Given the description of an element on the screen output the (x, y) to click on. 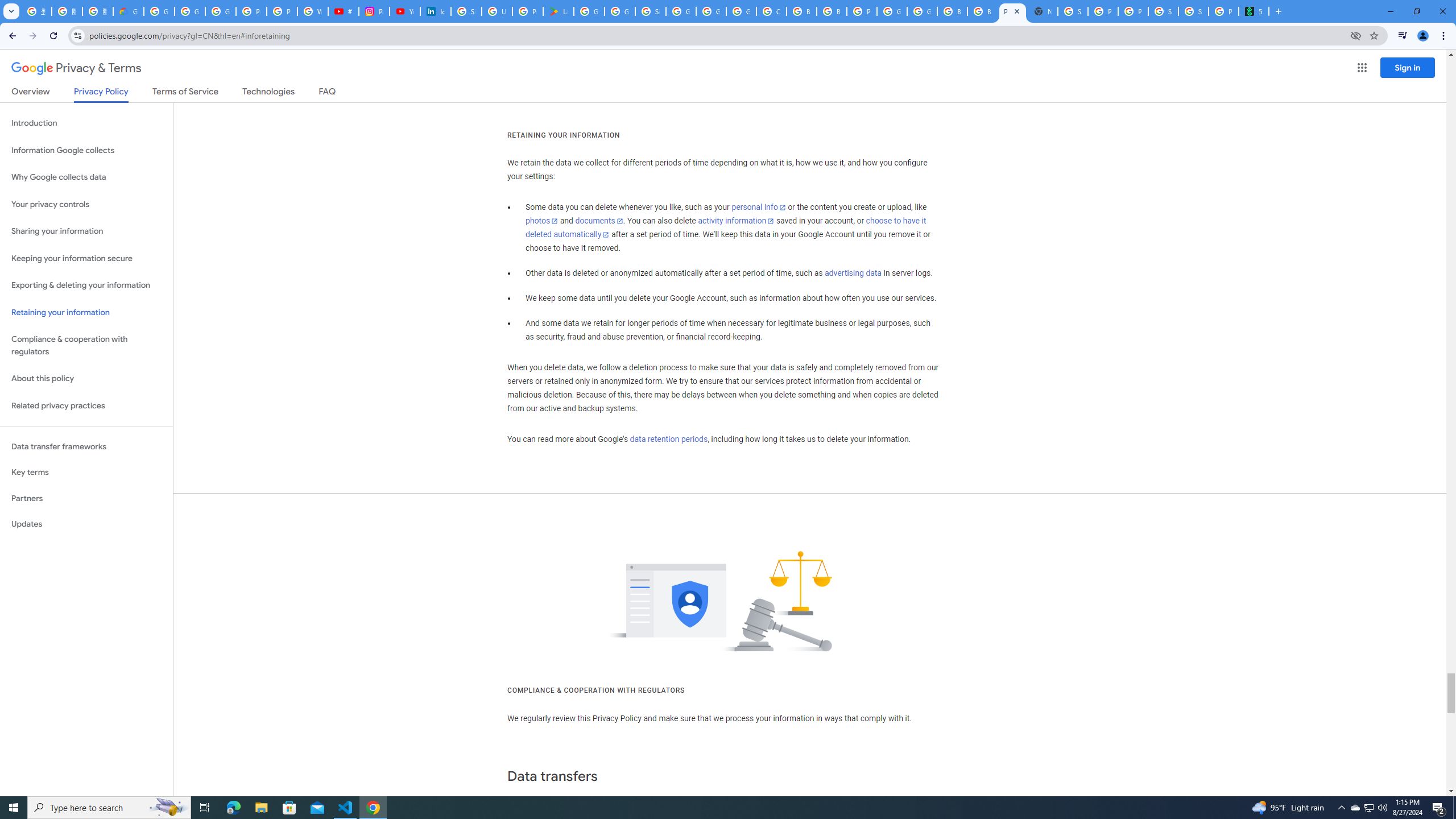
Why Google collects data (86, 176)
Exporting & deleting your information (86, 284)
Partners (86, 497)
Privacy & Terms (76, 68)
Identity verification via Persona | LinkedIn Help (434, 11)
personal info (758, 207)
Browse Chrome as a guest - Computer - Google Chrome Help (801, 11)
Keeping your information secure (86, 258)
